Given the description of an element on the screen output the (x, y) to click on. 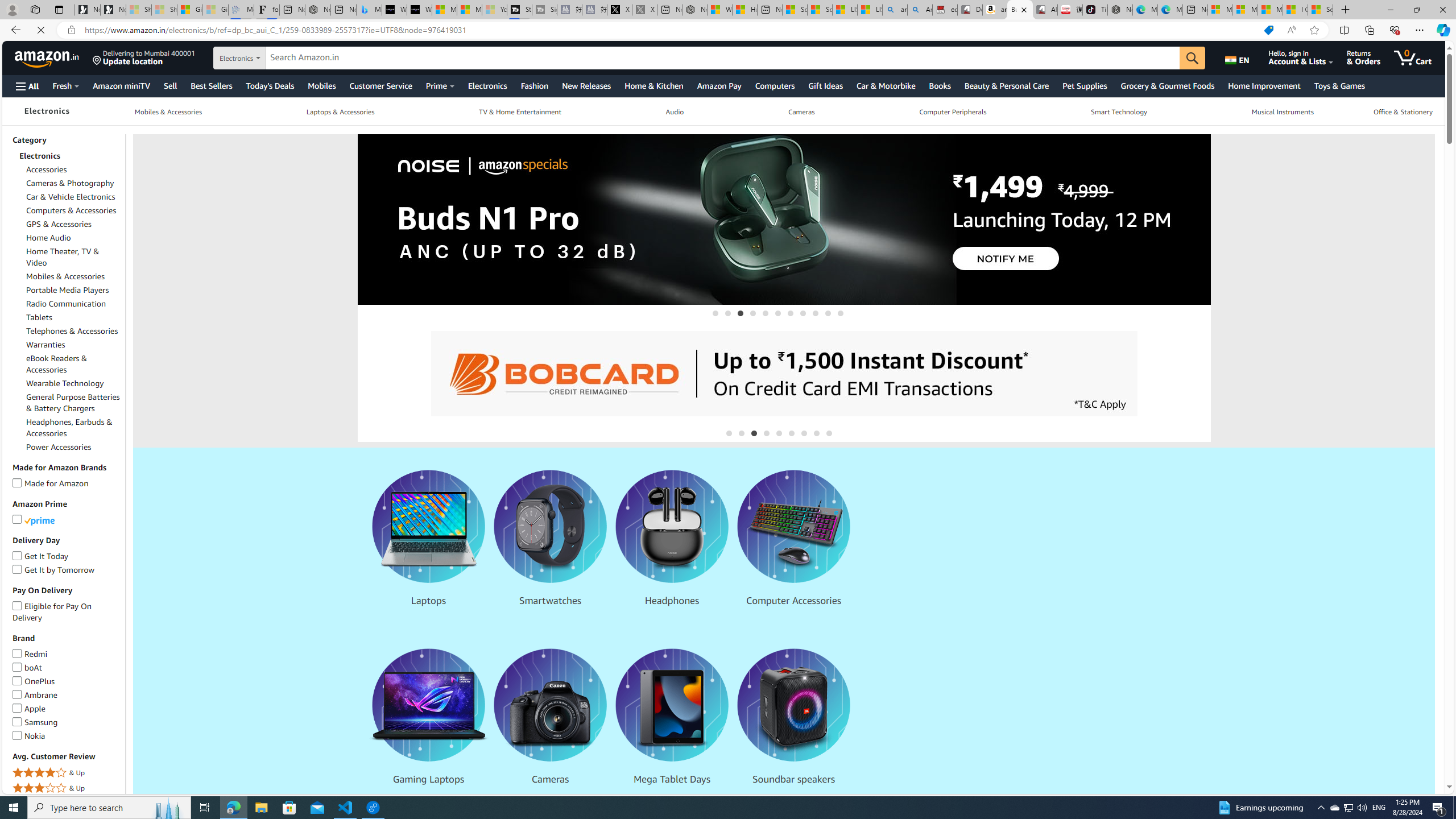
Fresh (65, 85)
Microsoft Start (1270, 9)
Grocery & Gourmet Foods (1167, 85)
Customer Service (380, 85)
Amazon Pay (719, 85)
Mobiles (320, 85)
Beauty & Personal Care (1005, 85)
Address and search bar (669, 29)
Amazon miniTV (121, 85)
Amazon.in (47, 57)
